Given the description of an element on the screen output the (x, y) to click on. 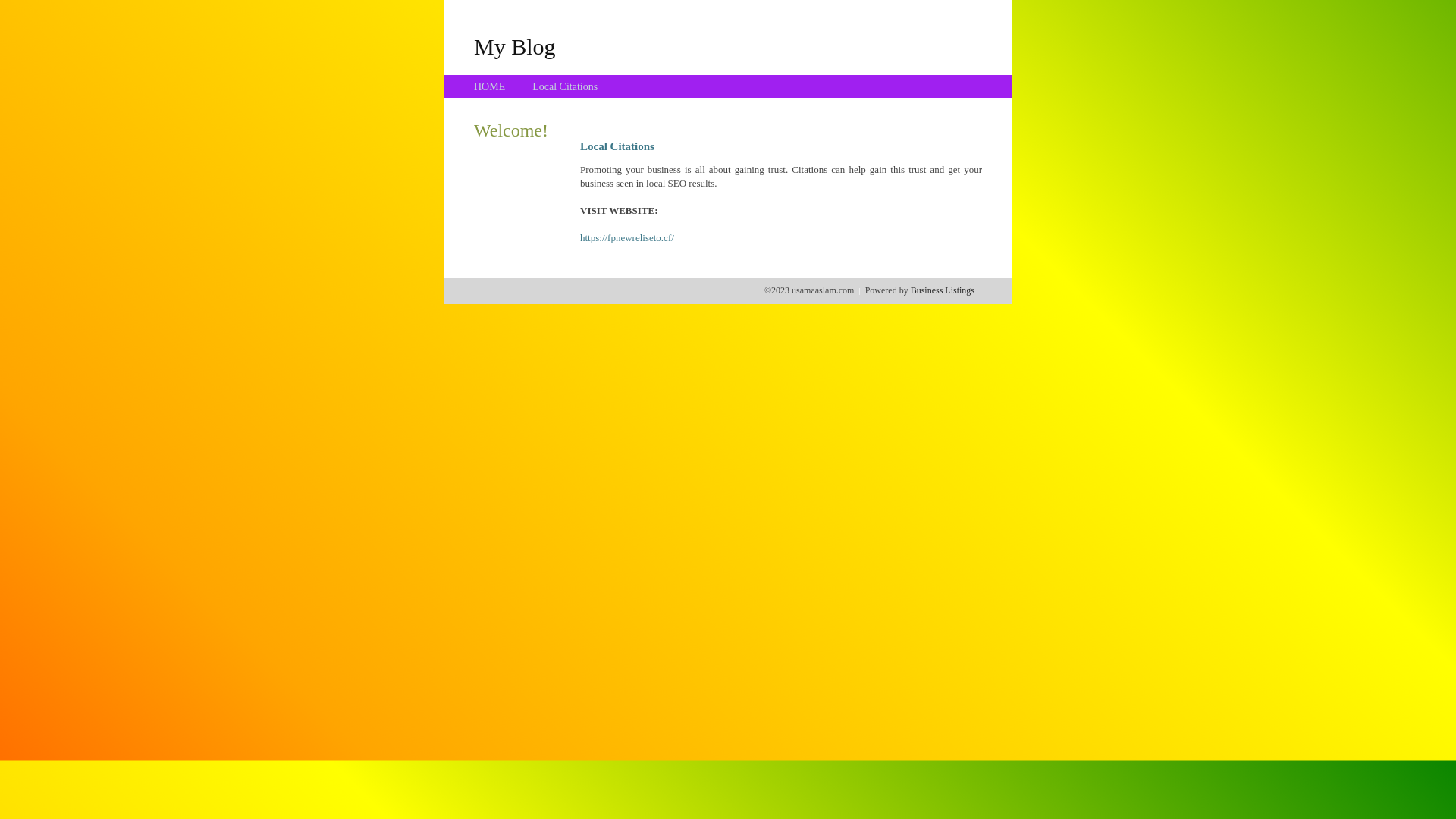
https://fpnewreliseto.cf/ Element type: text (627, 237)
Business Listings Element type: text (942, 290)
Local Citations Element type: text (564, 86)
HOME Element type: text (489, 86)
My Blog Element type: text (514, 46)
